Given the description of an element on the screen output the (x, y) to click on. 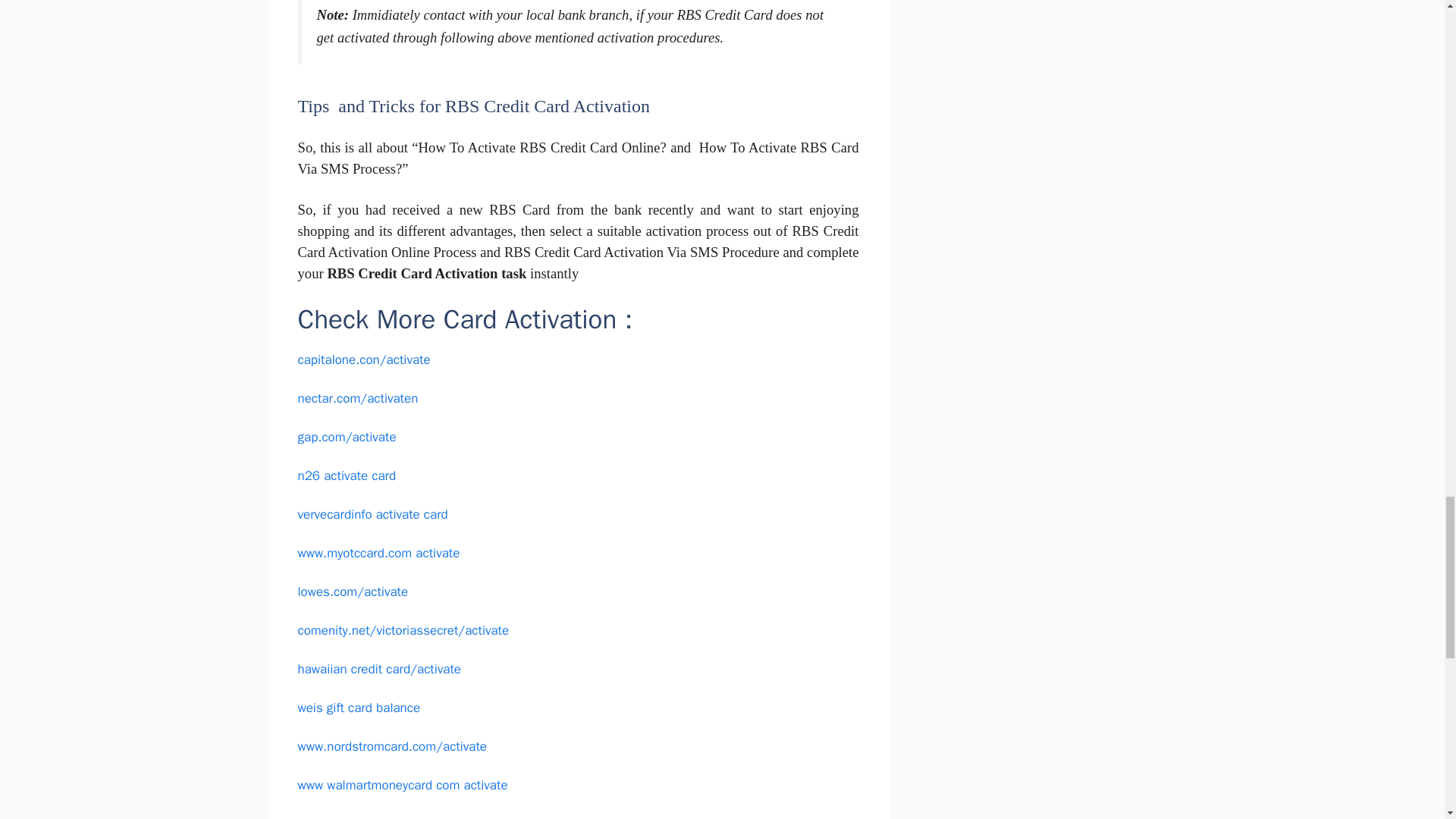
www.myotccard.com activate (378, 553)
vervecardinfo activate card (371, 514)
weis gift card balance (358, 707)
sears card activate (350, 817)
www walmartmoneycard com activate (401, 785)
n26 activate card (346, 475)
